Given the description of an element on the screen output the (x, y) to click on. 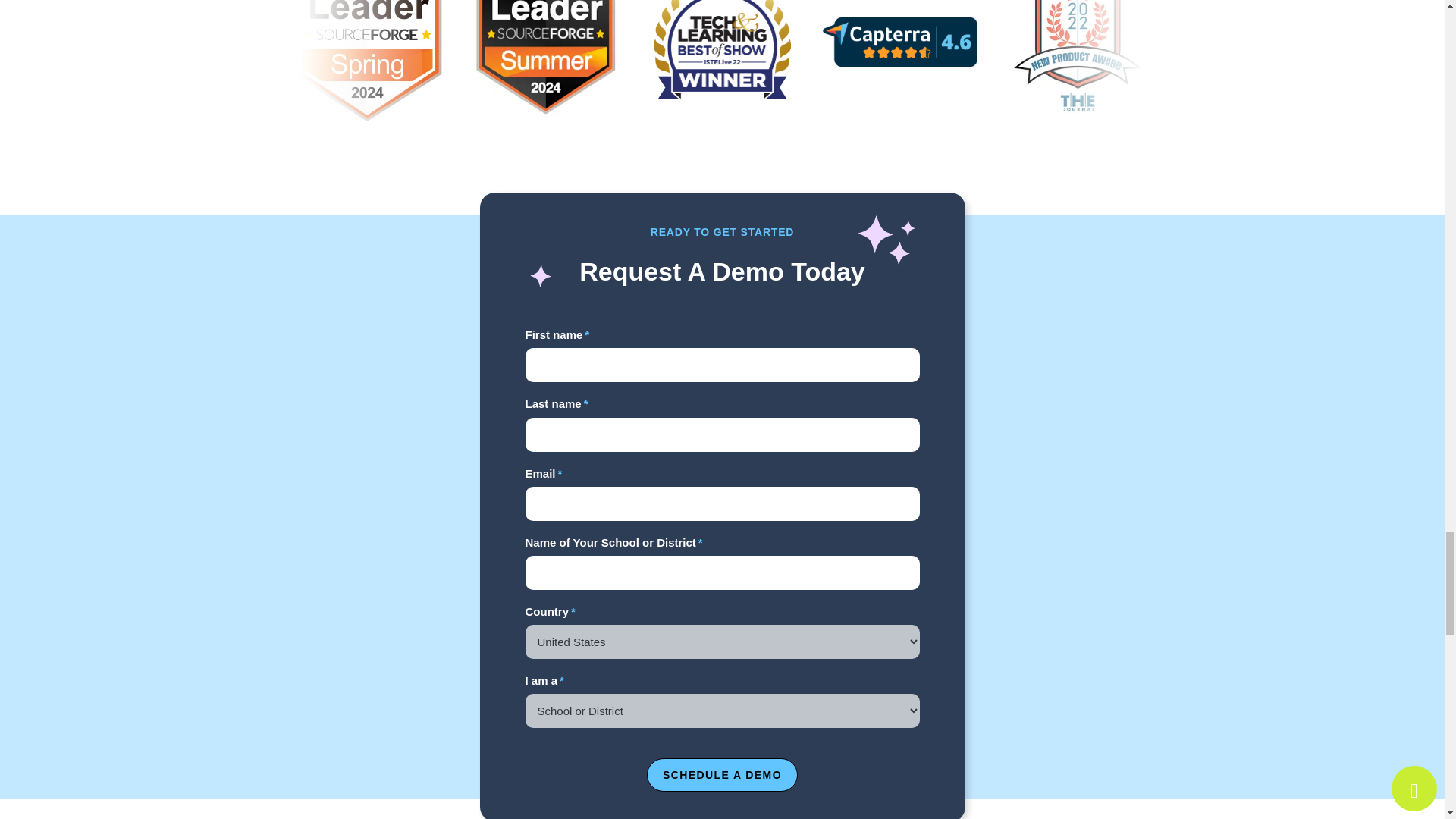
Schedule a Demo (721, 774)
